Given the description of an element on the screen output the (x, y) to click on. 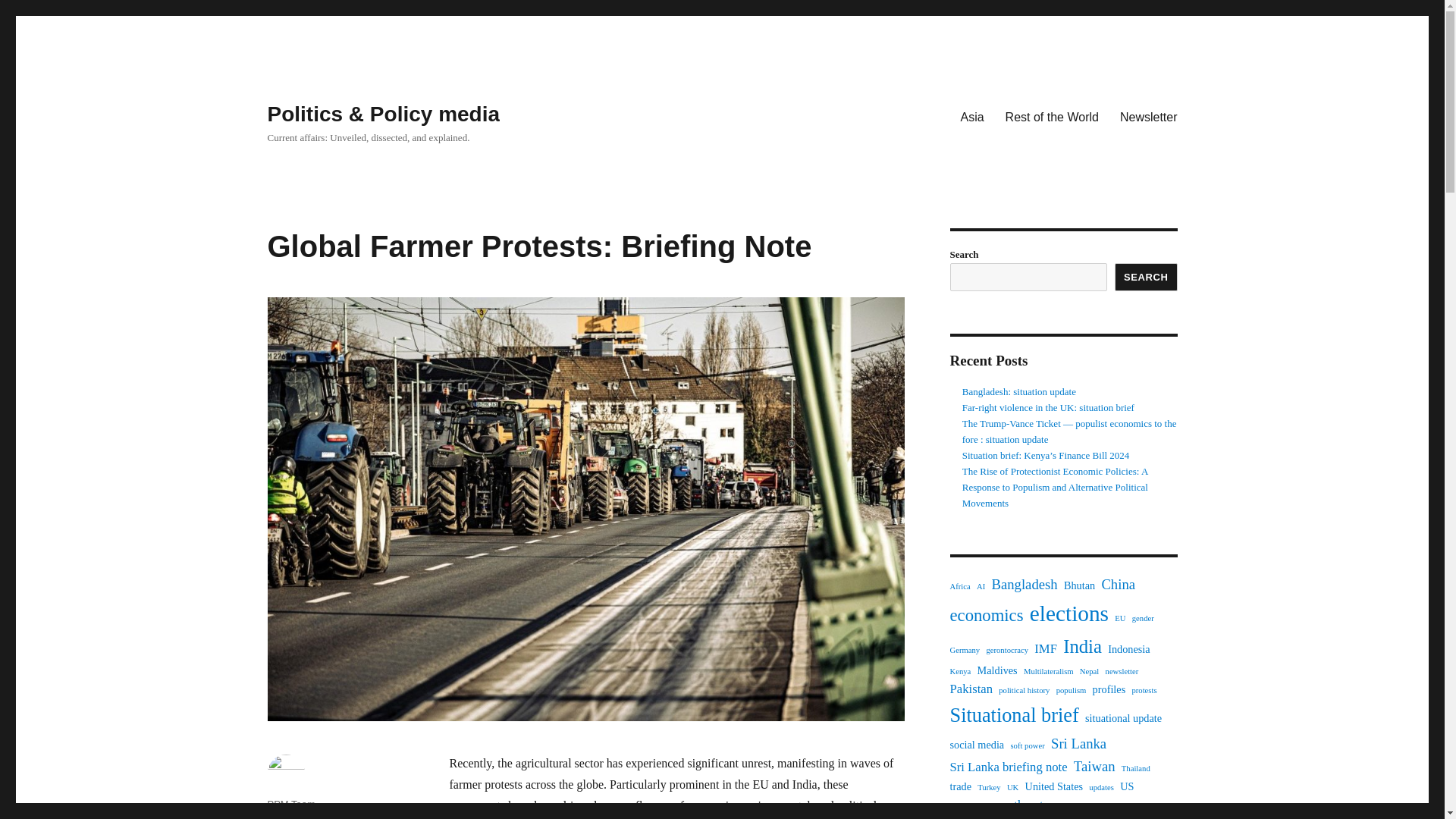
Newsletter (1148, 116)
SEARCH (1146, 276)
Far-right violence in the UK: situation brief (1048, 407)
PPM Team (290, 803)
Asia (971, 116)
Rest of the World (1051, 116)
Bangladesh: situation update (1018, 391)
